Given the description of an element on the screen output the (x, y) to click on. 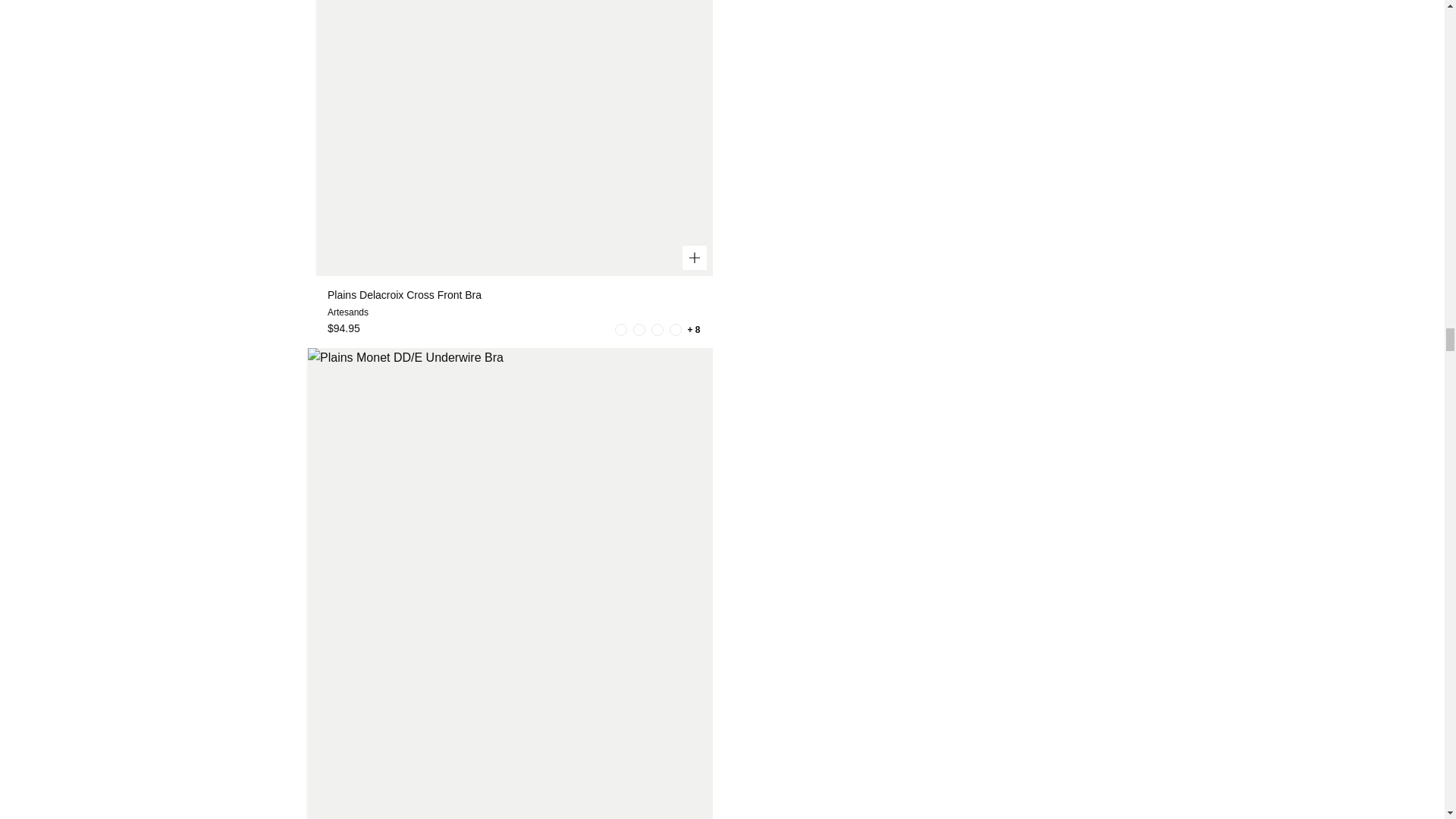
Ekhis Delacroix Cross Front Bra Swatch (675, 329)
Boca Raton Delacroix Bra Swatch (620, 329)
Chantique Delacroix Cross Front Bra Swatch (639, 329)
D'Avignon Delacroix Cross Front Bra Swatch (656, 329)
